Given the description of an element on the screen output the (x, y) to click on. 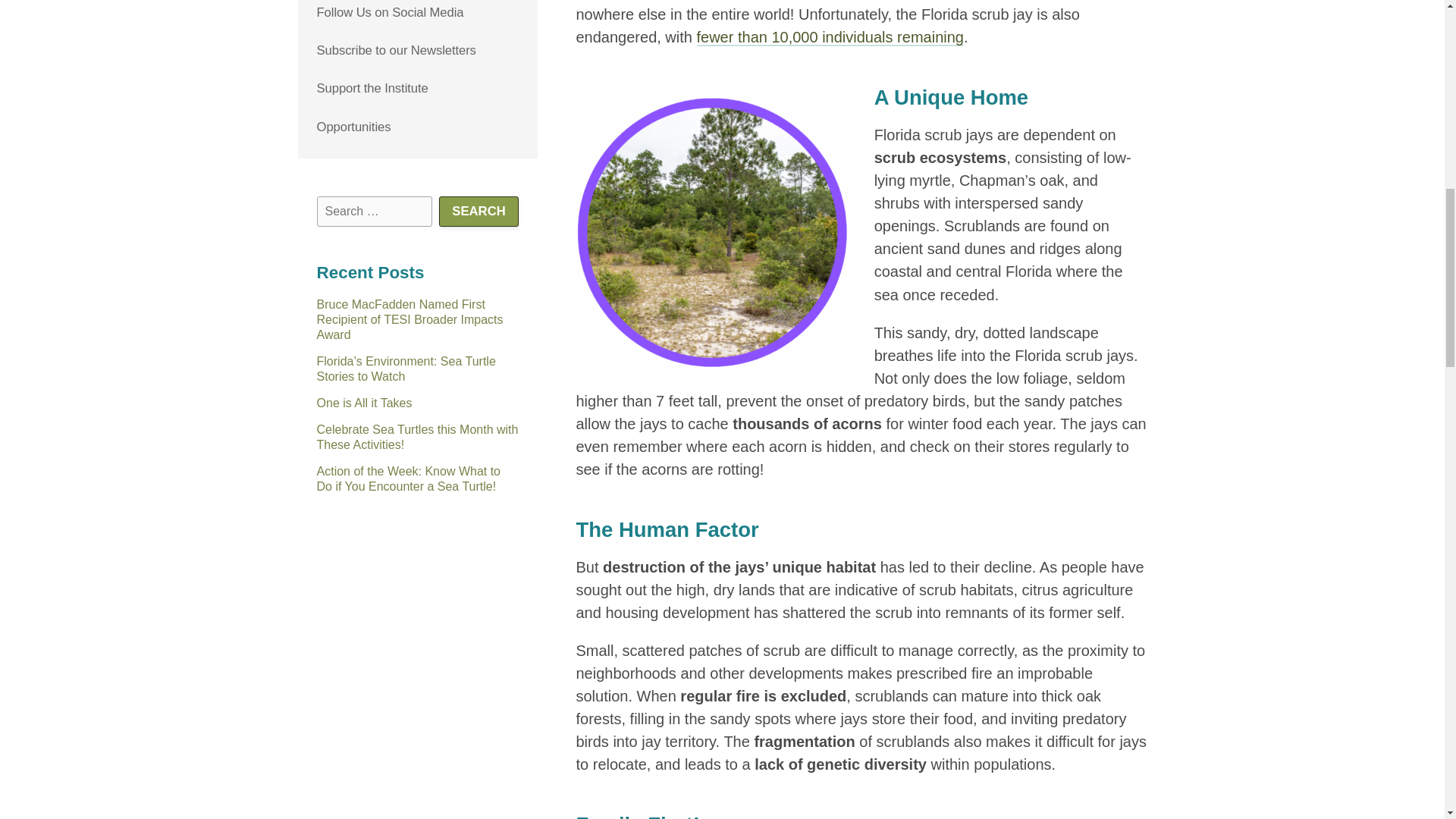
Search (479, 211)
Search (479, 211)
